Given the description of an element on the screen output the (x, y) to click on. 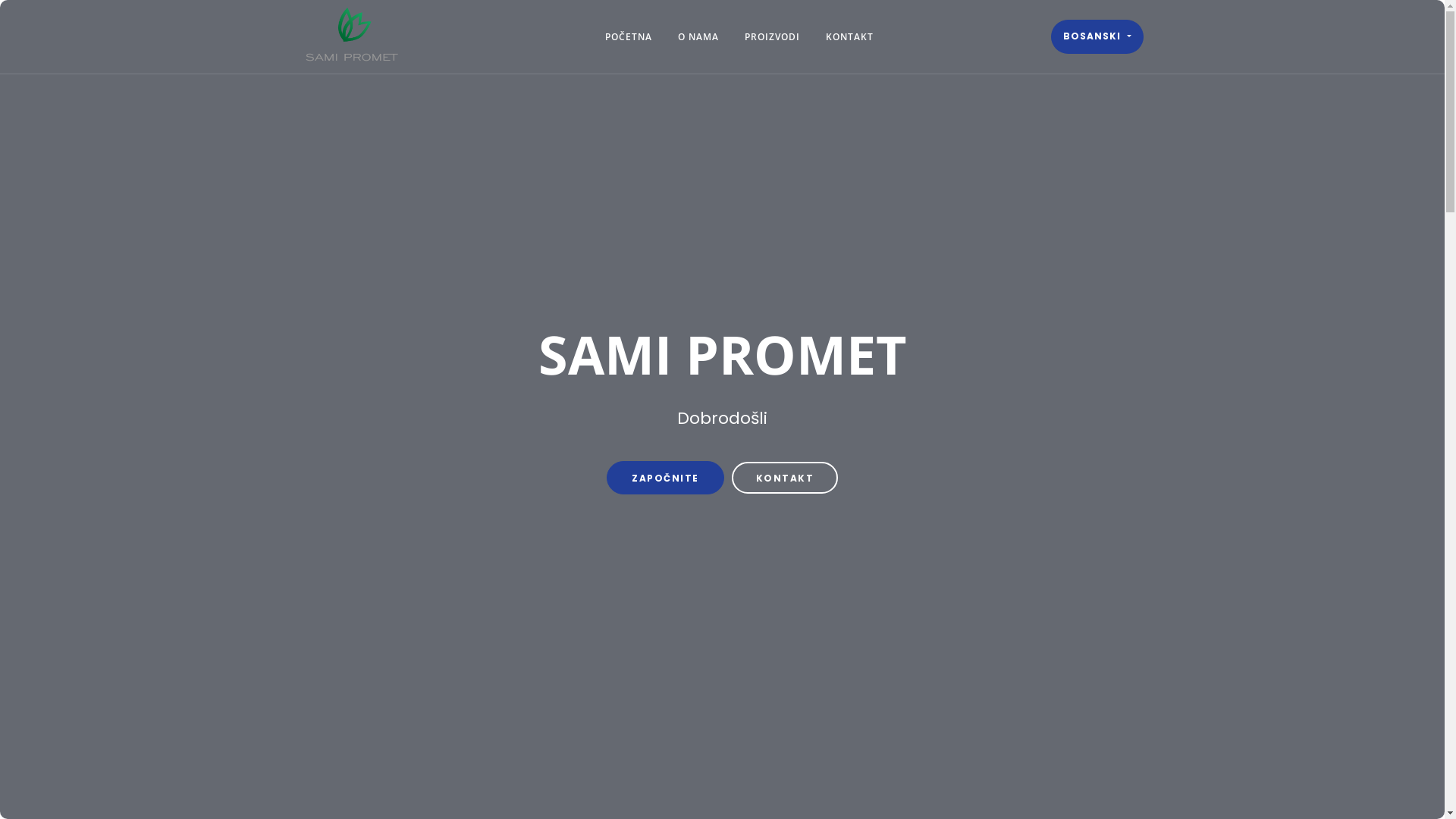
KONTAKT Element type: text (849, 36)
BOSANSKI Element type: text (1096, 36)
PROIZVODI Element type: text (771, 36)
KONTAKT Element type: text (784, 477)
O NAMA Element type: text (698, 36)
